Given the description of an element on the screen output the (x, y) to click on. 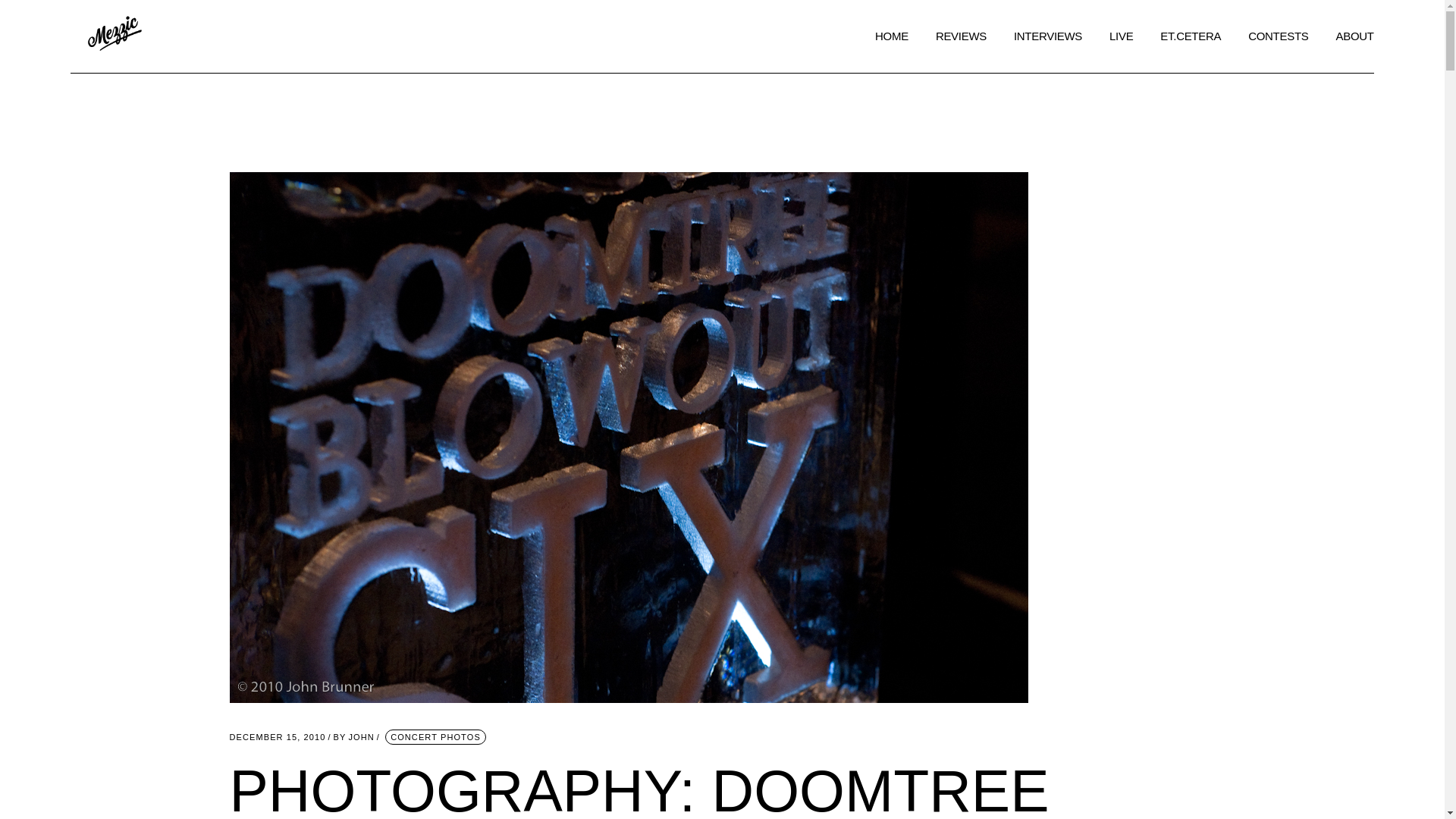
CONCERT PHOTOS (435, 736)
DECEMBER 15, 2010 (353, 737)
INTERVIEWS (276, 737)
